Given the description of an element on the screen output the (x, y) to click on. 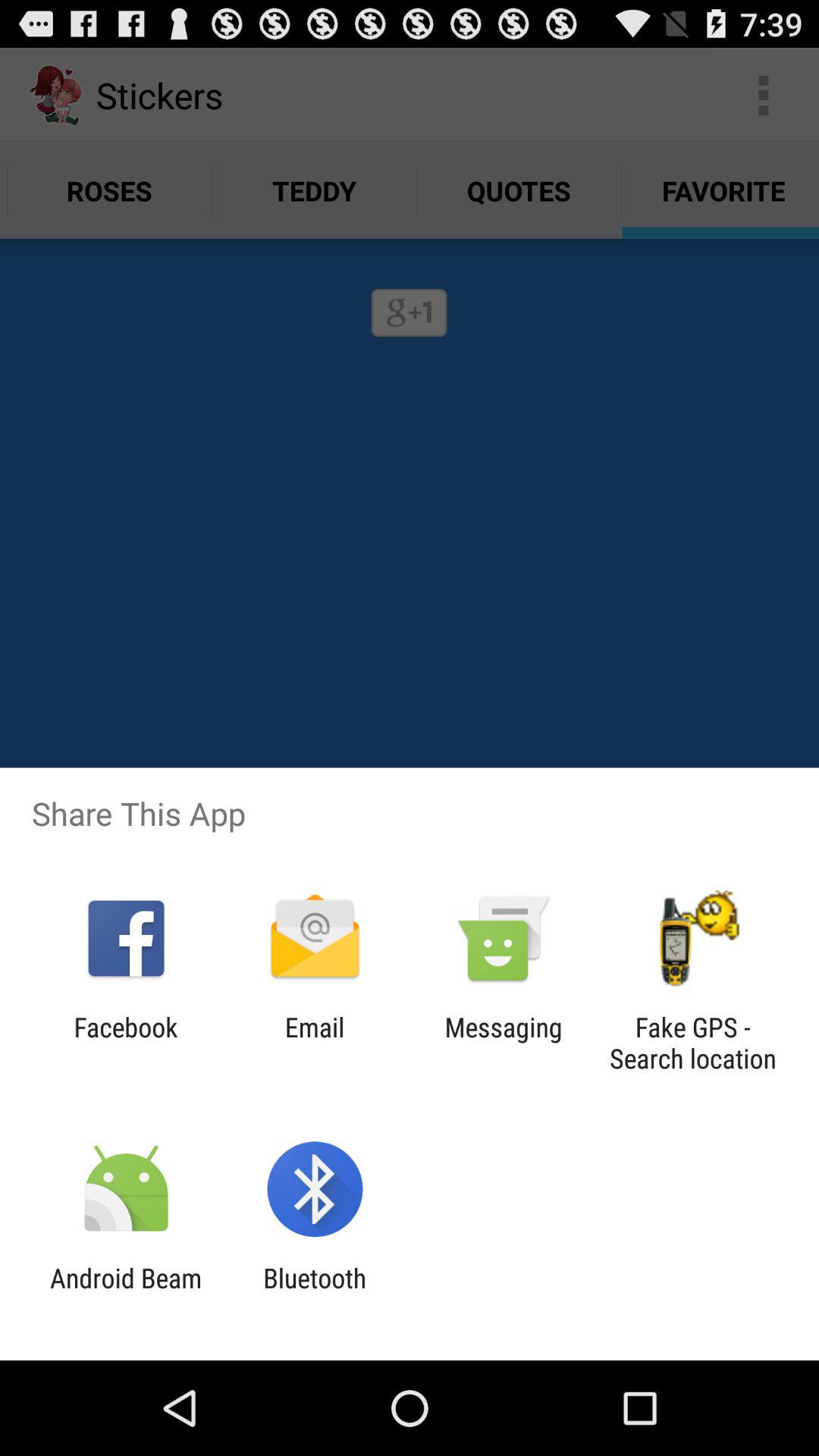
open the item to the left of fake gps search item (503, 1042)
